Given the description of an element on the screen output the (x, y) to click on. 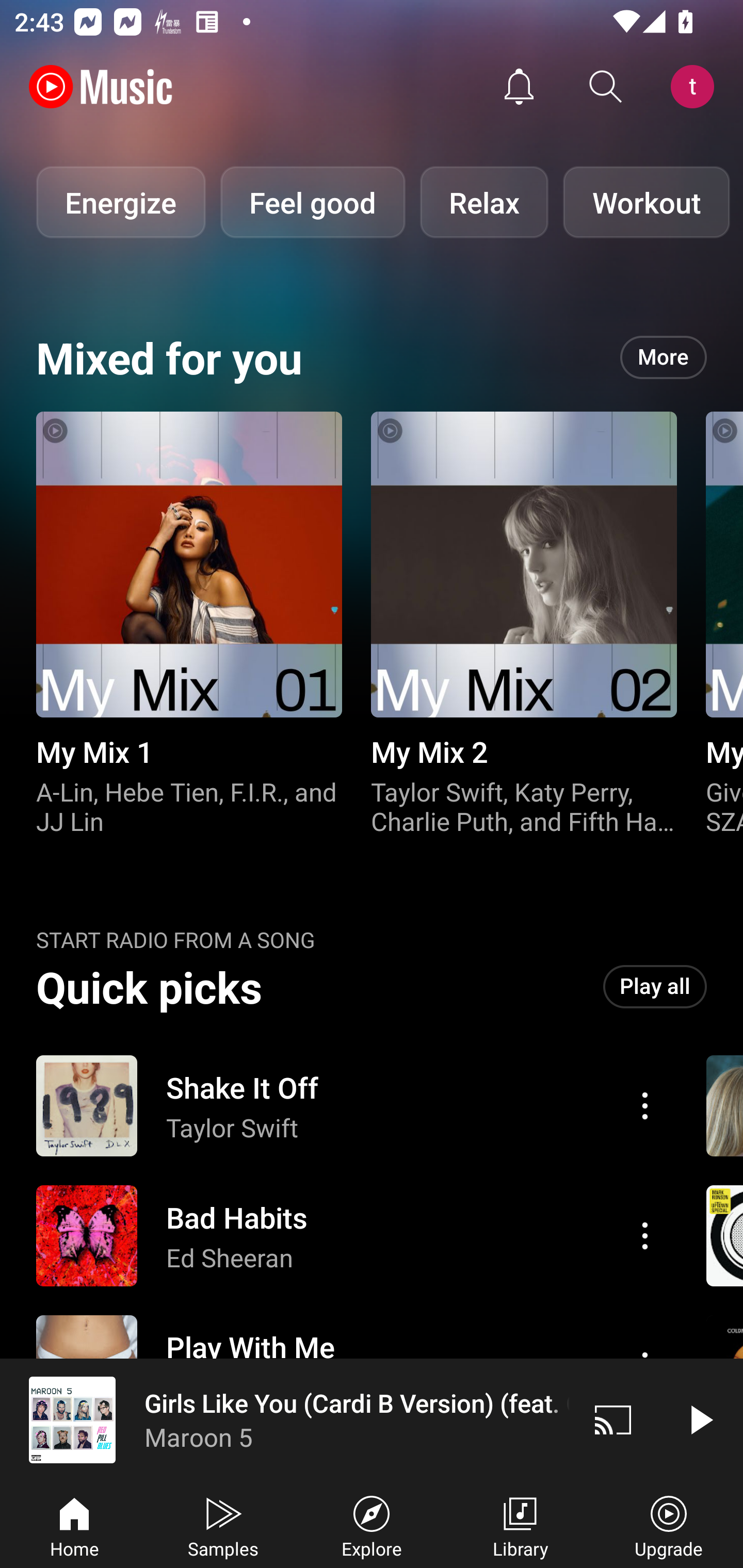
Activity feed (518, 86)
Search (605, 86)
Account (696, 86)
Action menu (349, 1106)
Action menu (644, 1106)
Action menu (349, 1236)
Action menu (644, 1235)
Cast. Disconnected (612, 1419)
Play video (699, 1419)
Home (74, 1524)
Samples (222, 1524)
Explore (371, 1524)
Library (519, 1524)
Upgrade (668, 1524)
